Given the description of an element on the screen output the (x, y) to click on. 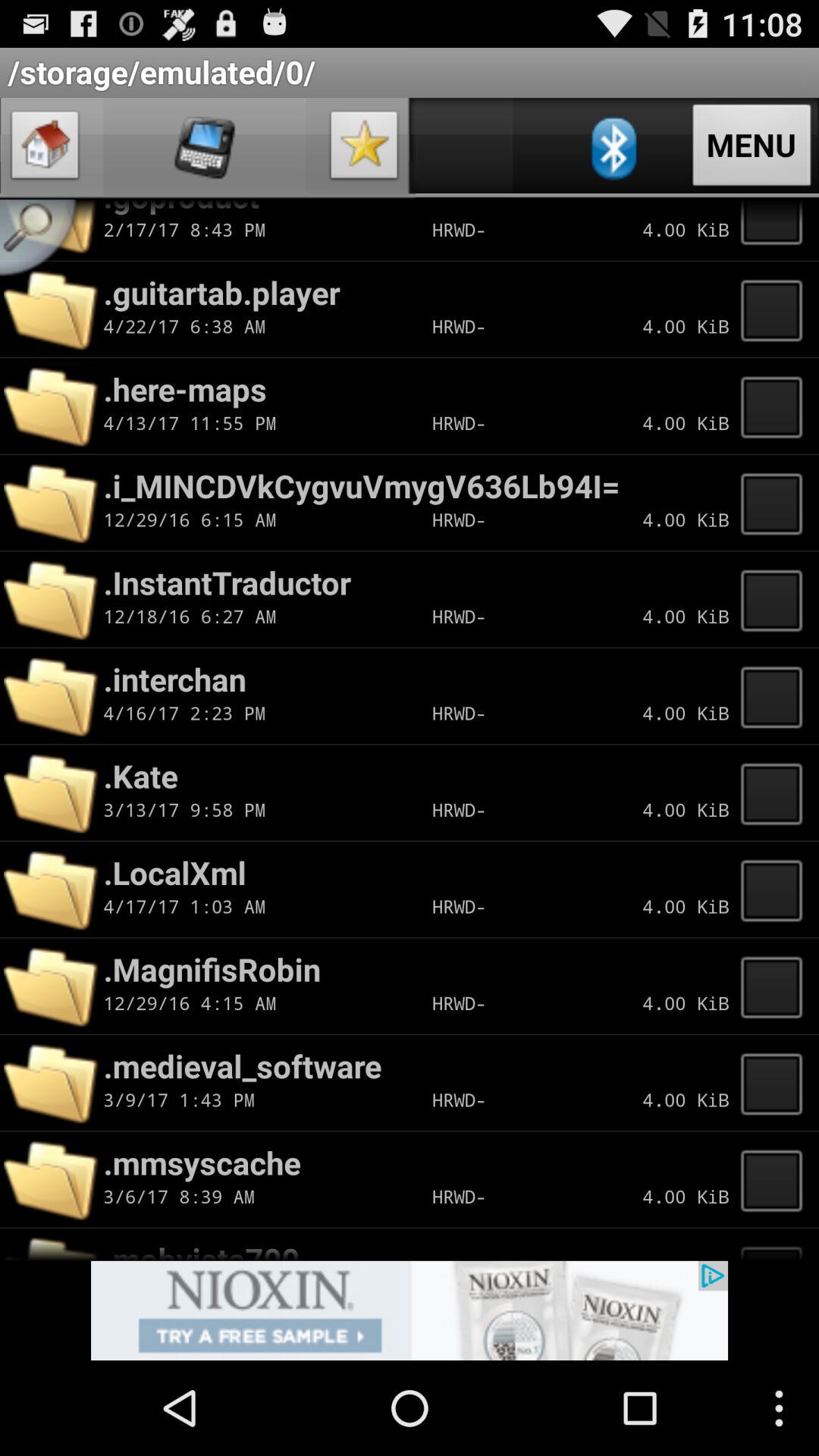
go home (44, 148)
